Given the description of an element on the screen output the (x, y) to click on. 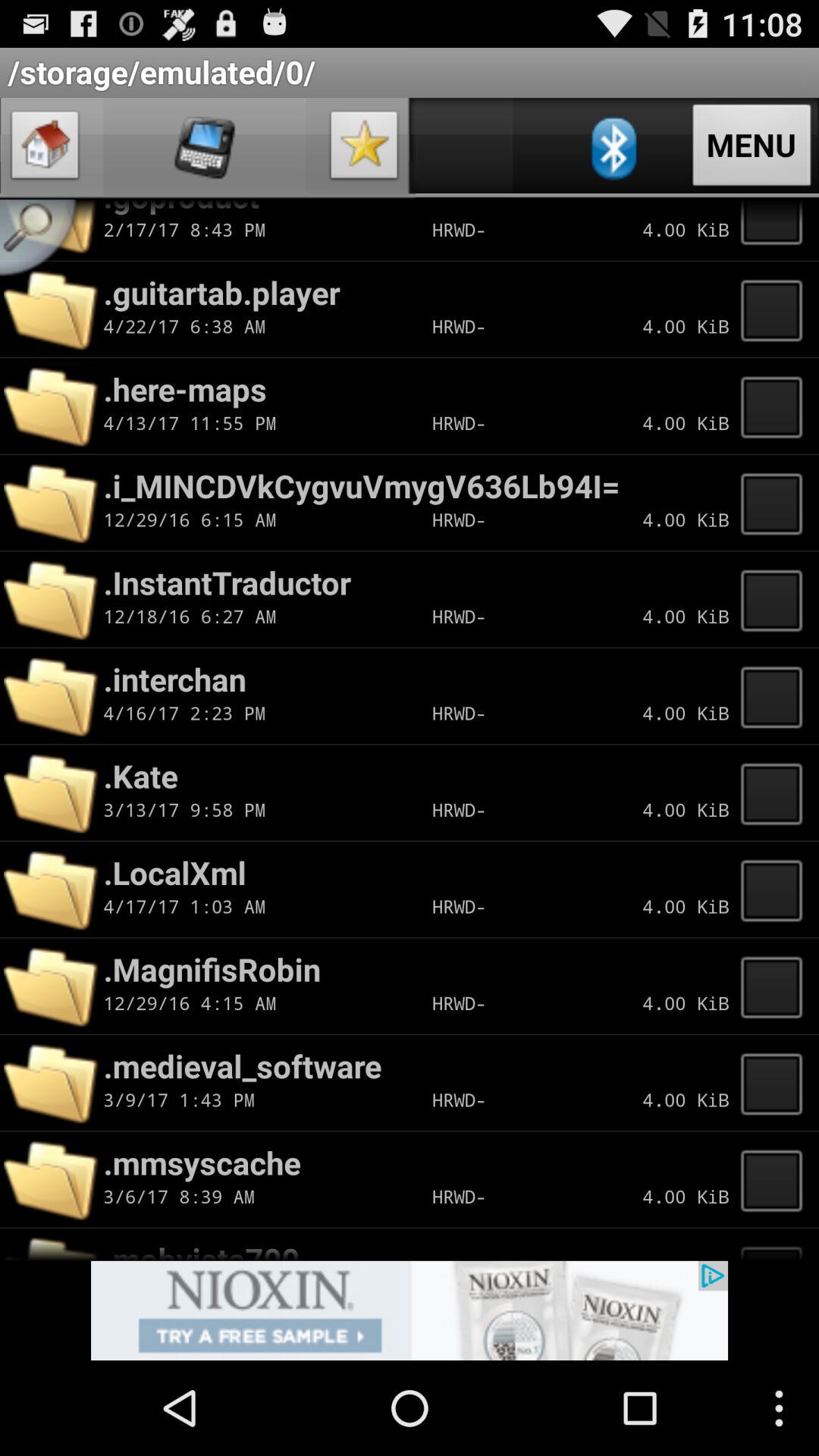
go home (44, 148)
